Given the description of an element on the screen output the (x, y) to click on. 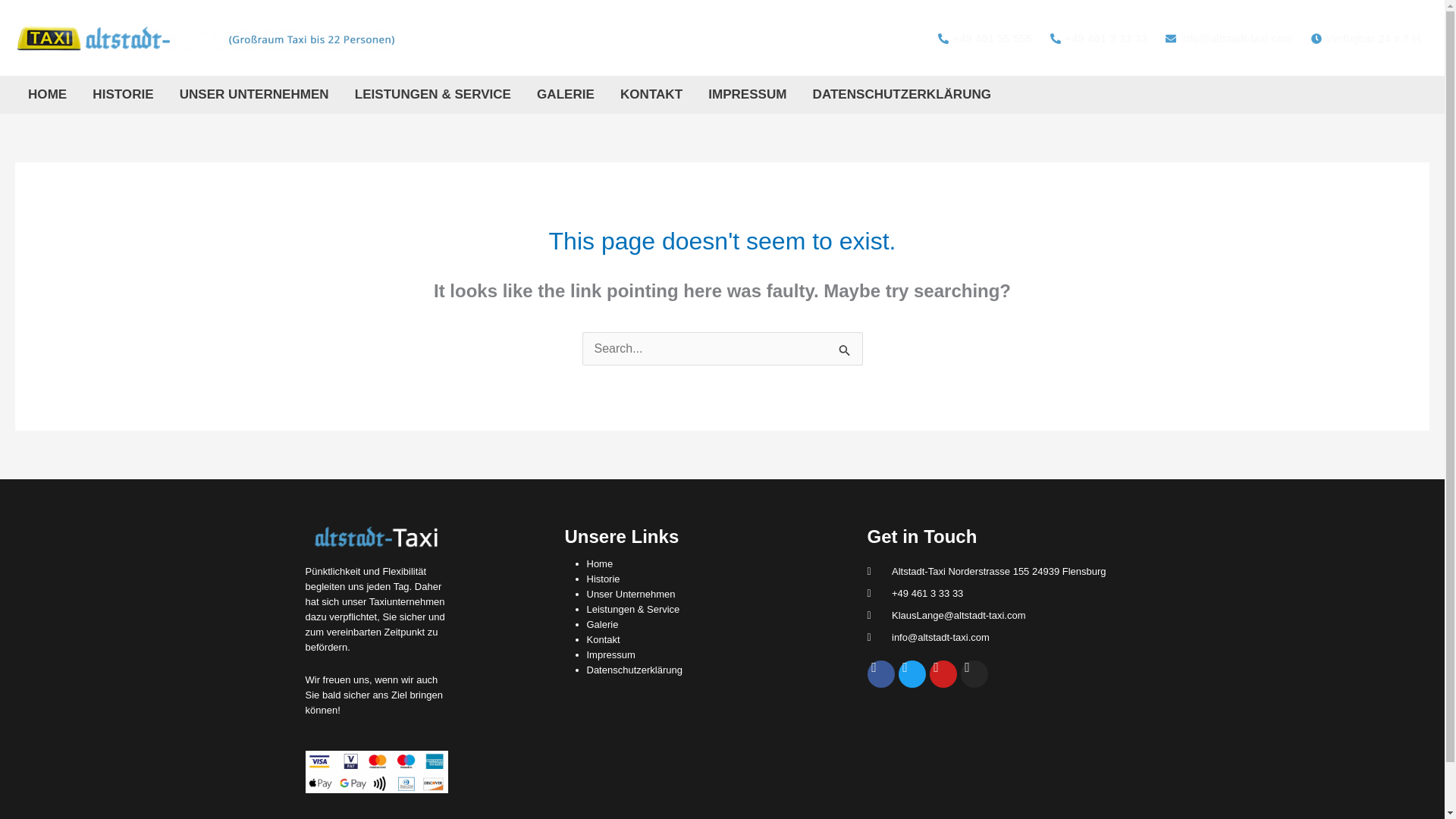
IMPRESSUM (747, 94)
HISTORIE (122, 94)
Impressum (610, 654)
Home (599, 563)
HOME (47, 94)
Galerie (602, 624)
Twitter (911, 673)
Historie (603, 578)
Facebook (881, 673)
Kontakt (603, 639)
UNSER UNTERNEHMEN (254, 94)
Unser Unternehmen (630, 593)
GALERIE (565, 94)
KONTAKT (651, 94)
